Given the description of an element on the screen output the (x, y) to click on. 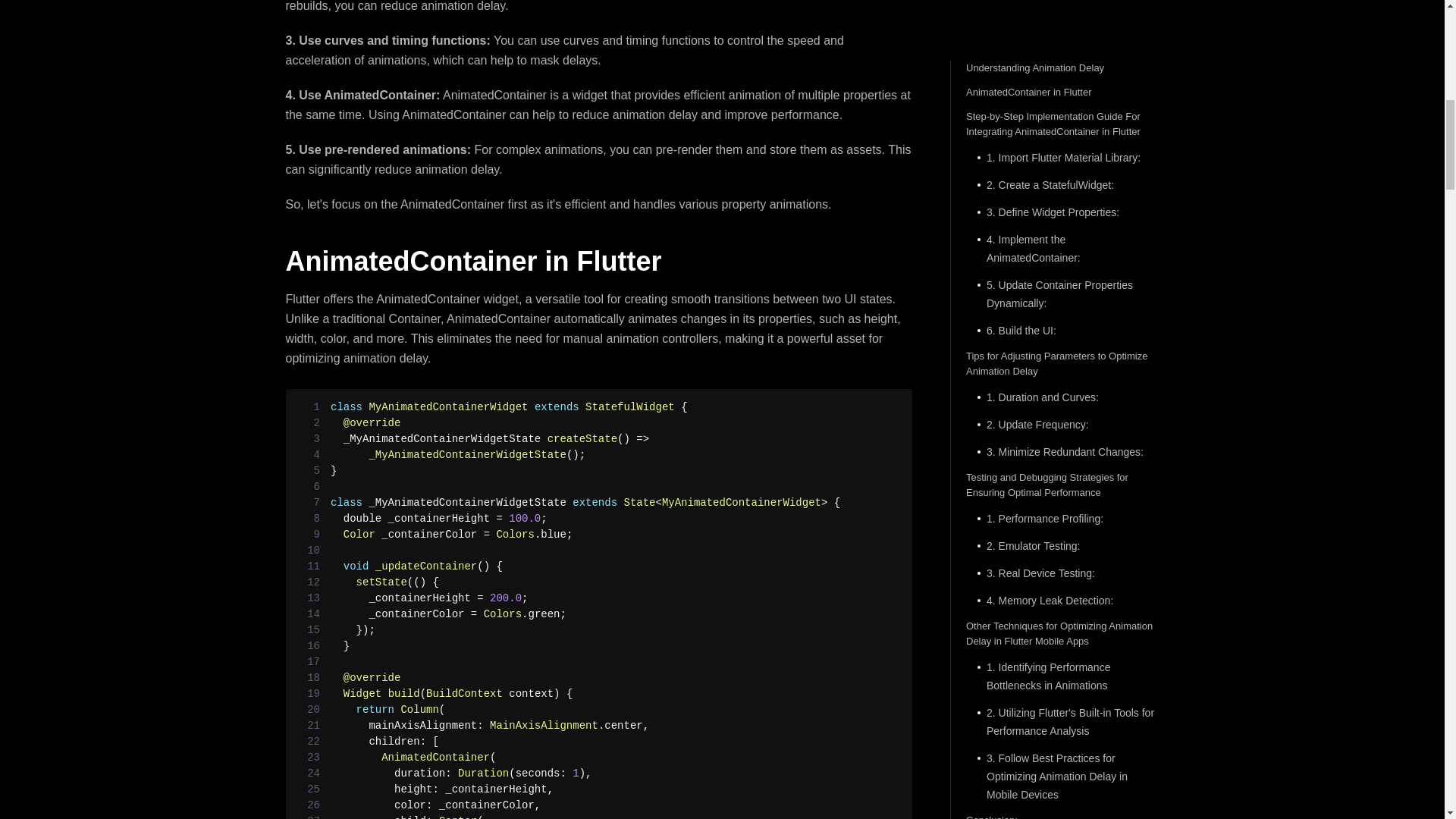
Harness Gen-AI (1062, 320)
1. Identifying Performance Bottlenecks in Animations (1062, 78)
4. Memory Leak Detection: (1062, 6)
Conclusion: (1062, 222)
